Given the description of an element on the screen output the (x, y) to click on. 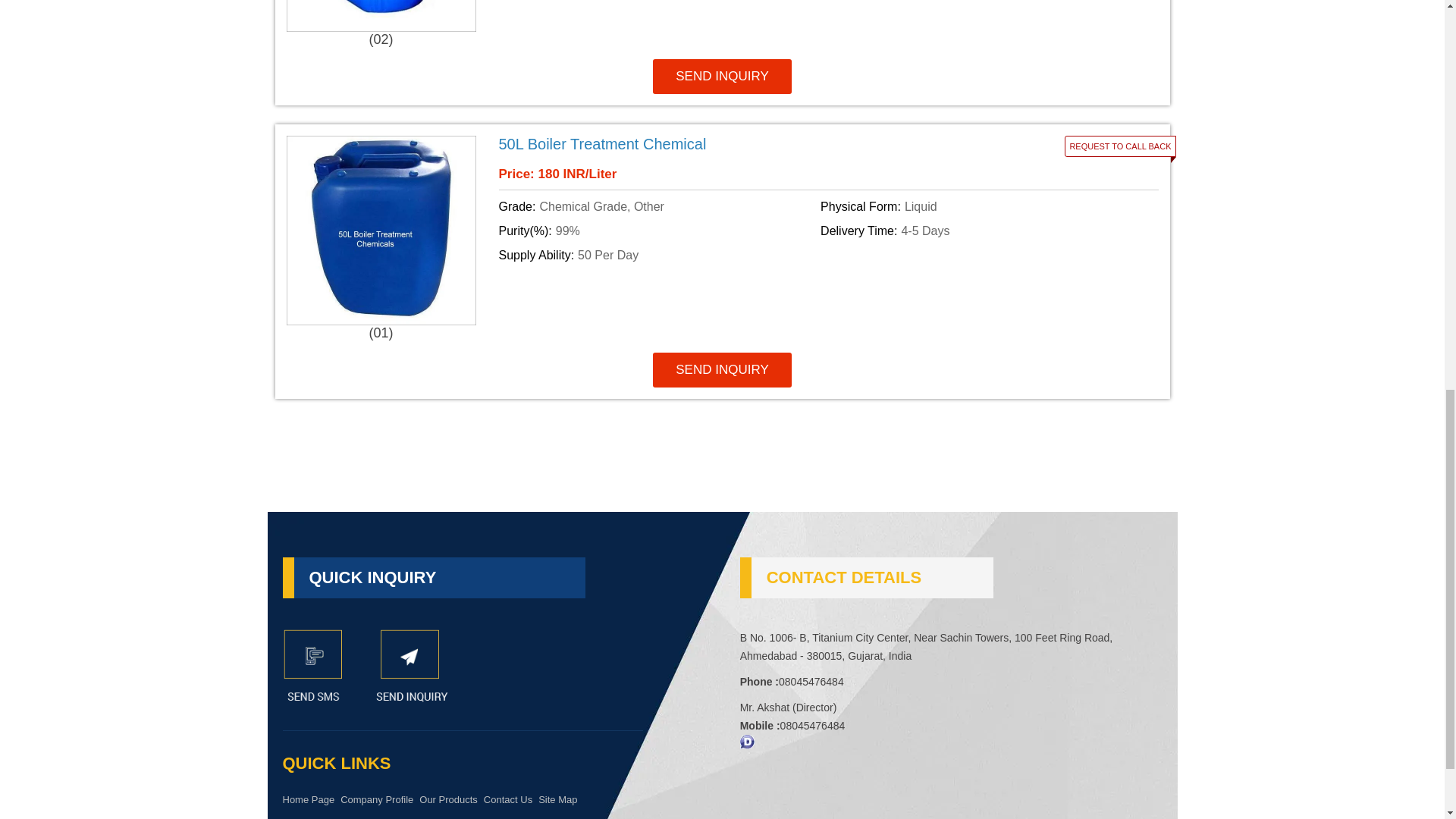
Delivery Time: 4-5 Days (979, 230)
Grade: Chemical Grade, Other (657, 207)
50L Boiler Treatment Chemical (716, 144)
Supply Ability: 50 Per Day (657, 255)
Physical Form: Liquid (979, 207)
